Given the description of an element on the screen output the (x, y) to click on. 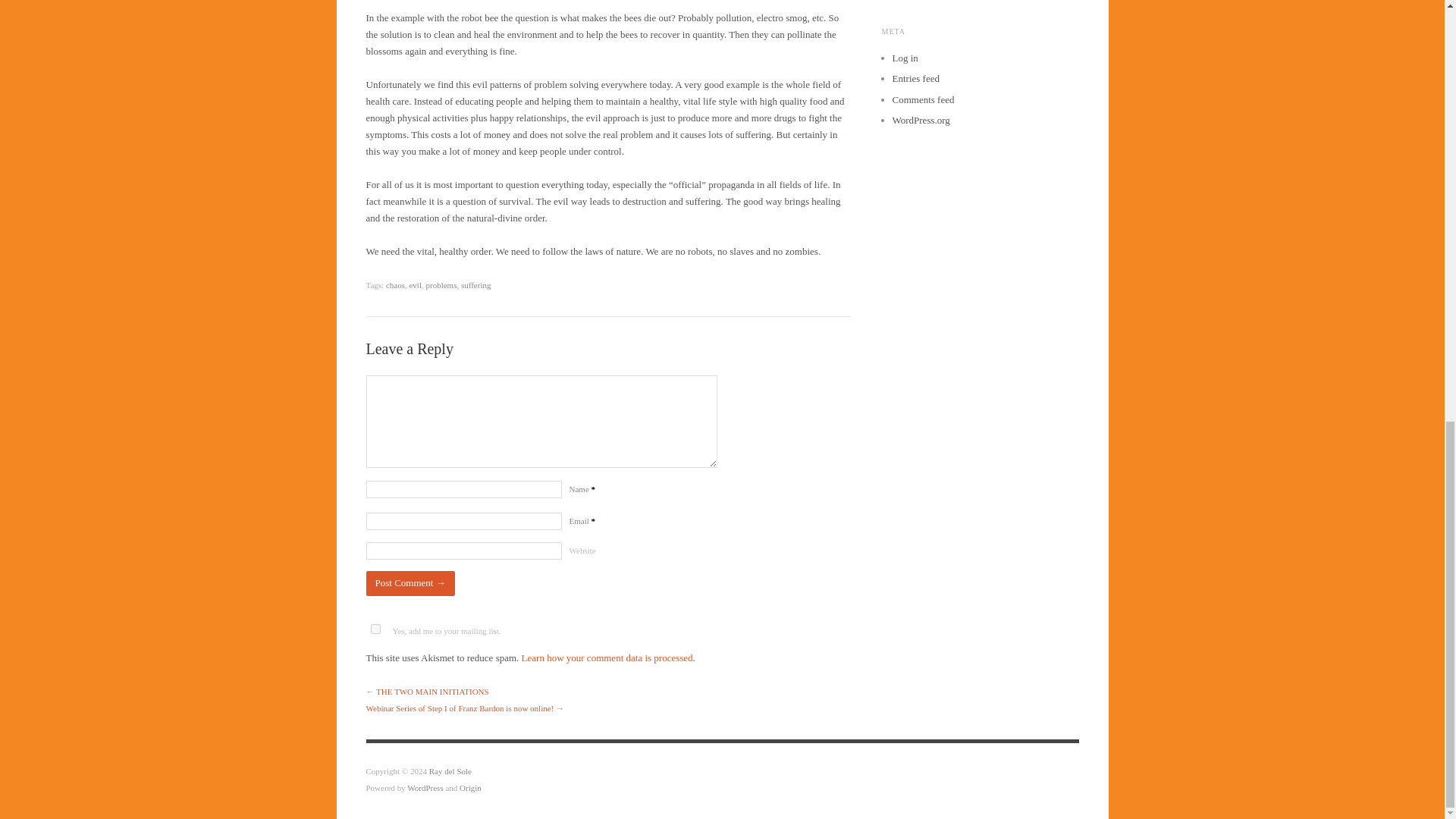
Entries feed (915, 78)
chaos (394, 284)
Comments feed (922, 99)
suffering (476, 284)
WordPress.org (920, 120)
Origin (470, 787)
THE TWO MAIN INITIATIONS (432, 691)
problems (441, 284)
WordPress (424, 787)
Ray del Sole (450, 770)
Log in (904, 57)
Webinar Series of Step I of Franz Bardon is now online! (459, 707)
1 (374, 628)
Learn how your comment data is processed (607, 657)
evil (415, 284)
